Given the description of an element on the screen output the (x, y) to click on. 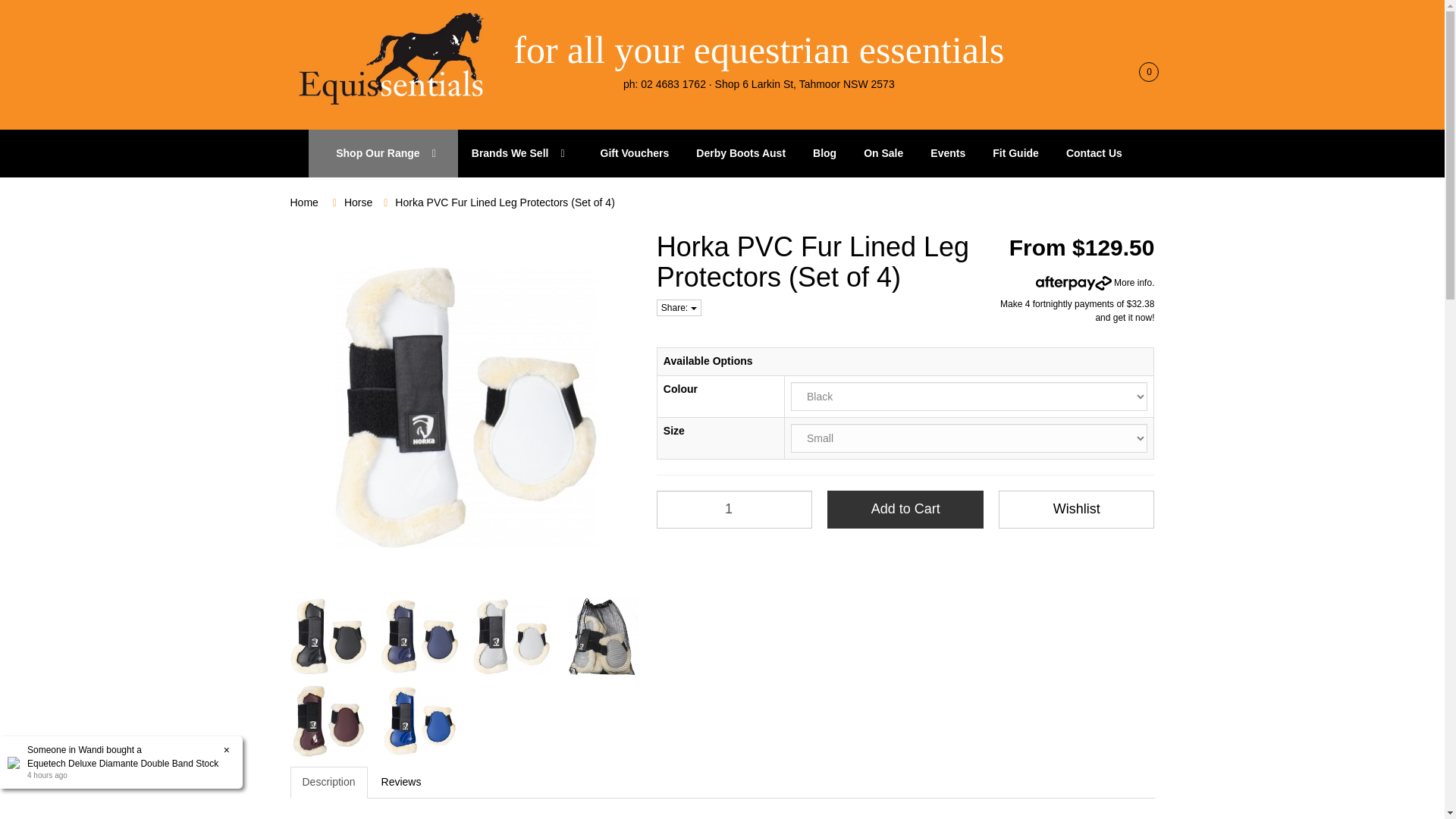
1 (734, 509)
Large View (603, 636)
Large View (511, 636)
Large View (327, 720)
Large View (327, 636)
Large View (419, 636)
Large View (419, 720)
Add to Cart (905, 509)
0 (1142, 70)
Equissentials (392, 58)
Shop Our Range (383, 153)
